Given the description of an element on the screen output the (x, y) to click on. 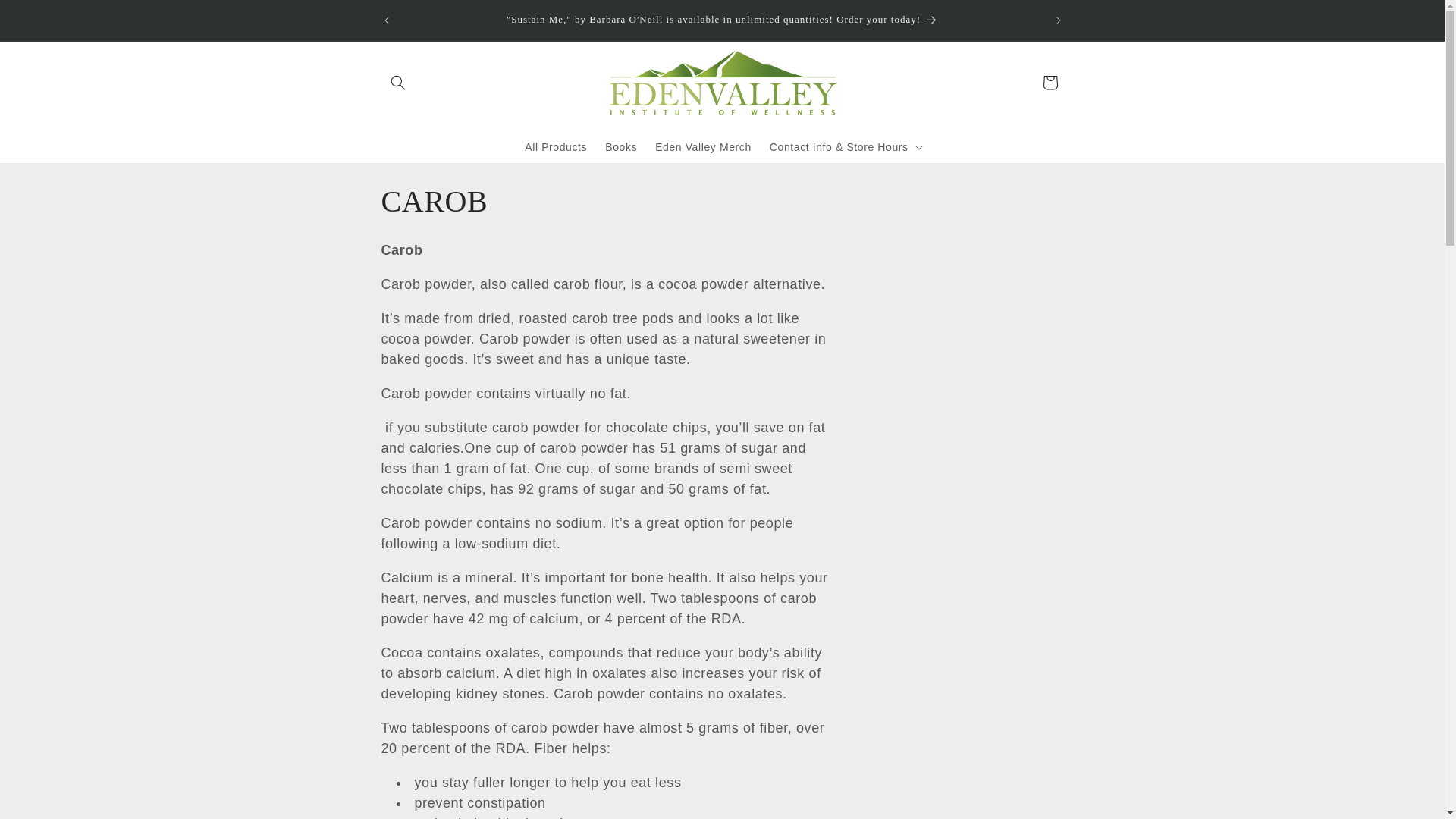
Skip to content (45, 17)
Books (620, 146)
Cart (1048, 82)
Eden Valley Merch (703, 146)
All Products (555, 146)
